Given the description of an element on the screen output the (x, y) to click on. 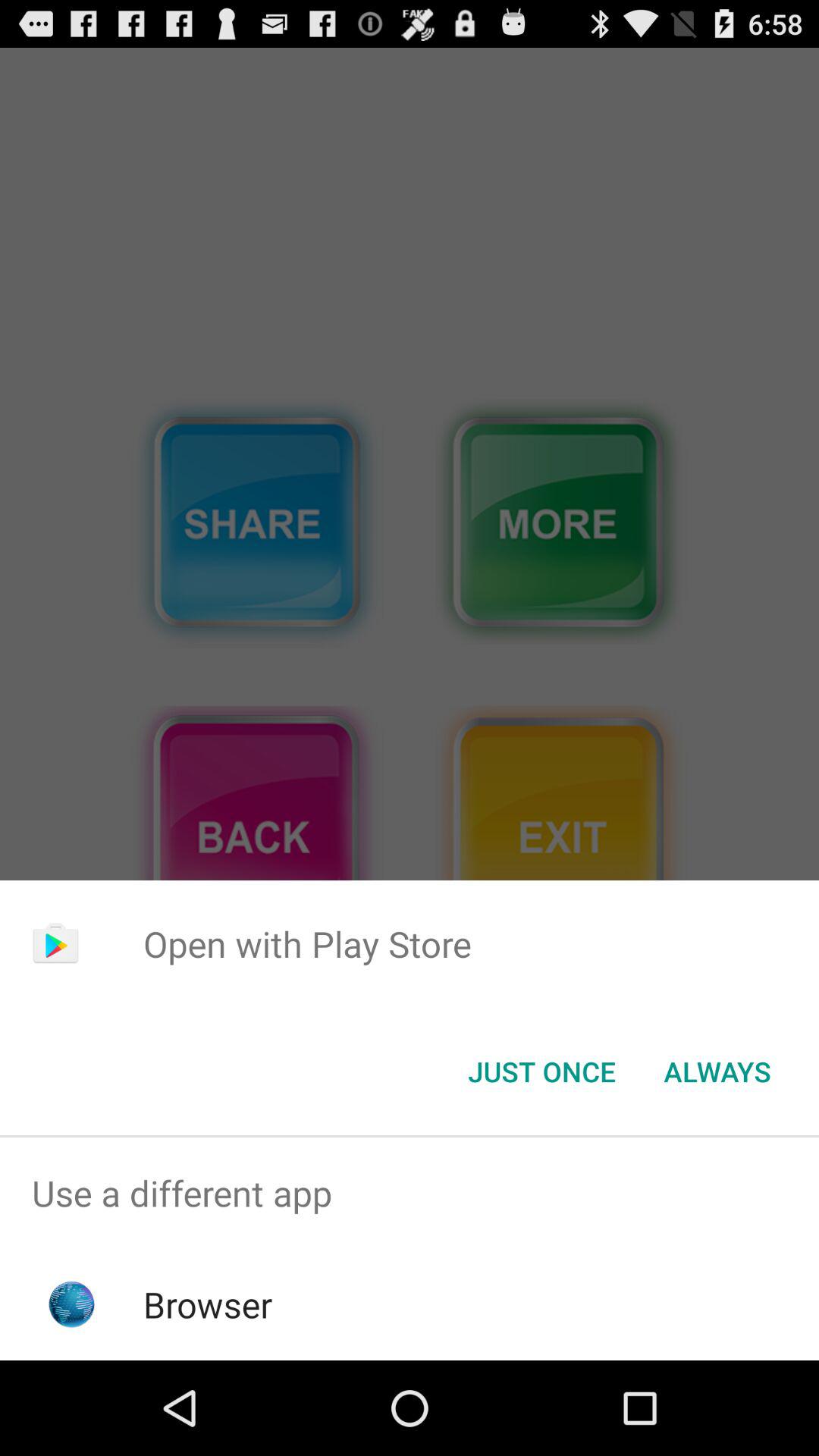
tap item below the open with play (717, 1071)
